Given the description of an element on the screen output the (x, y) to click on. 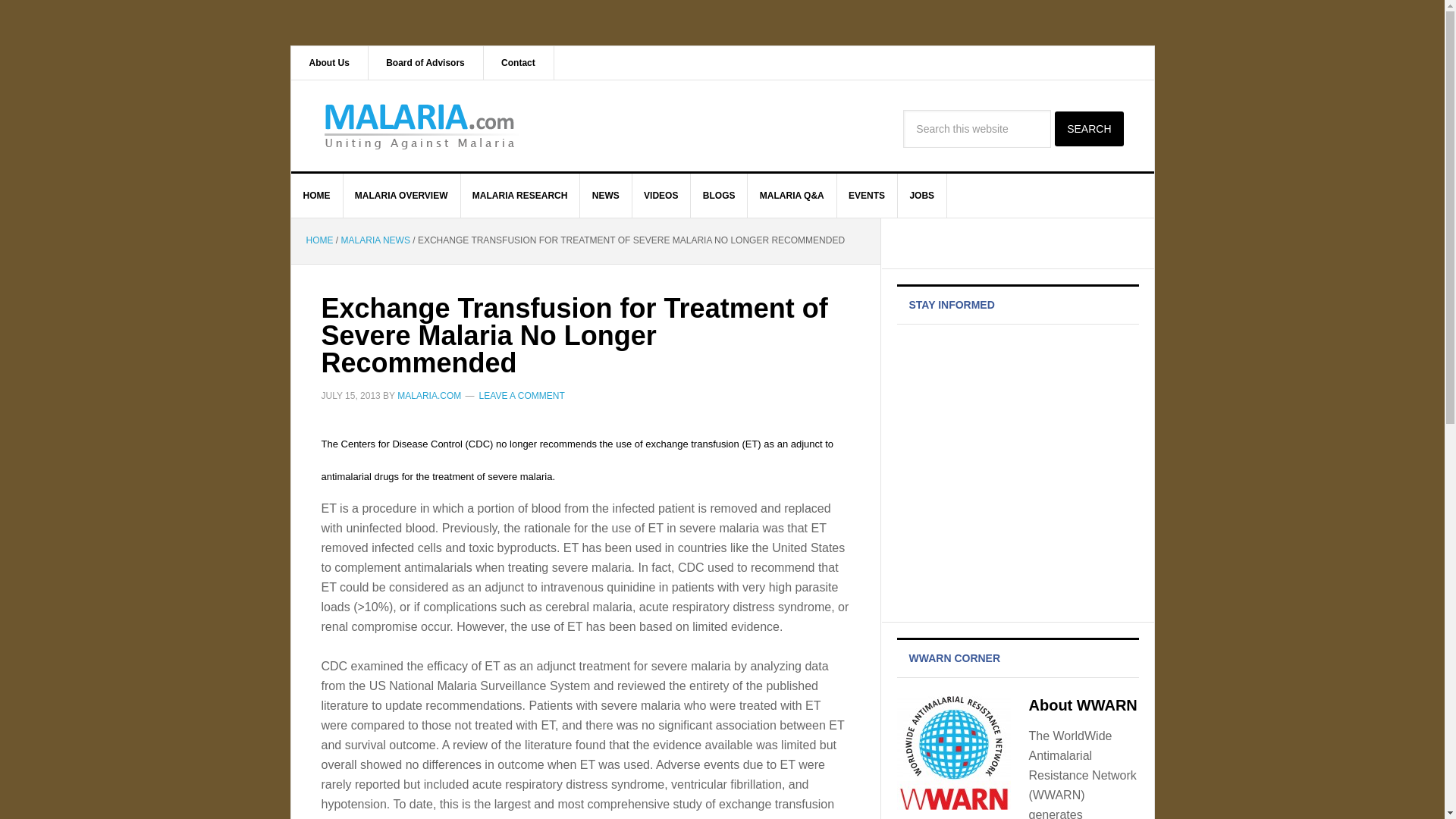
Search (1088, 128)
EVENTS (866, 195)
MALARIA RESEARCH (520, 195)
MALARIA NEWS (375, 240)
MALARIA.COM (429, 394)
Search (1088, 128)
Search (1088, 128)
HOME (317, 195)
VIDEOS (660, 195)
About Us (329, 62)
